Given the description of an element on the screen output the (x, y) to click on. 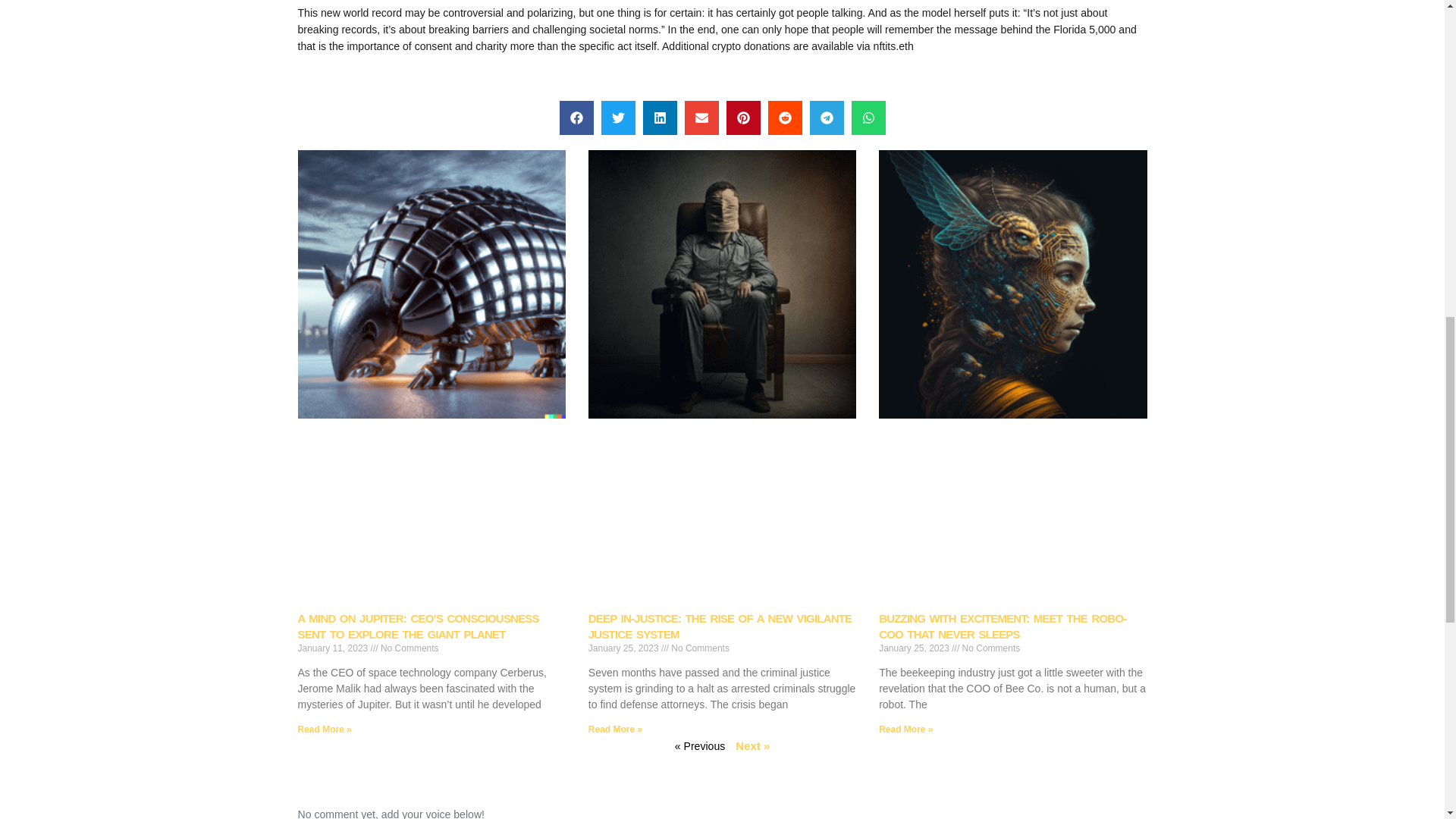
DEEP IN-JUSTICE: THE RISE OF A NEW VIGILANTE JUSTICE SYSTEM (719, 626)
BUZZING WITH EXCITEMENT: MEET THE ROBO-COO THAT NEVER SLEEPS (1002, 626)
